Given the description of an element on the screen output the (x, y) to click on. 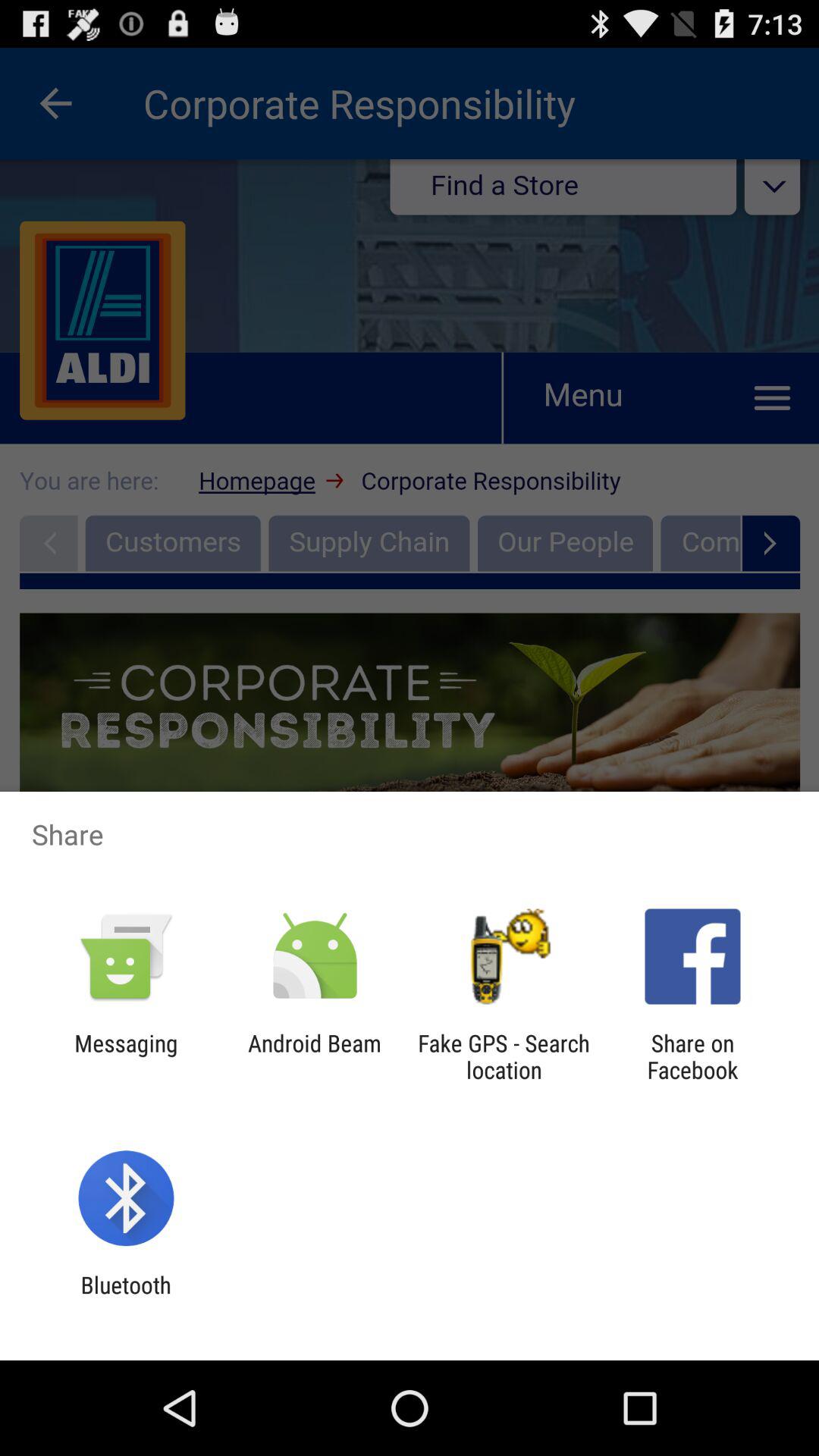
turn off app to the left of share on facebook app (503, 1056)
